Given the description of an element on the screen output the (x, y) to click on. 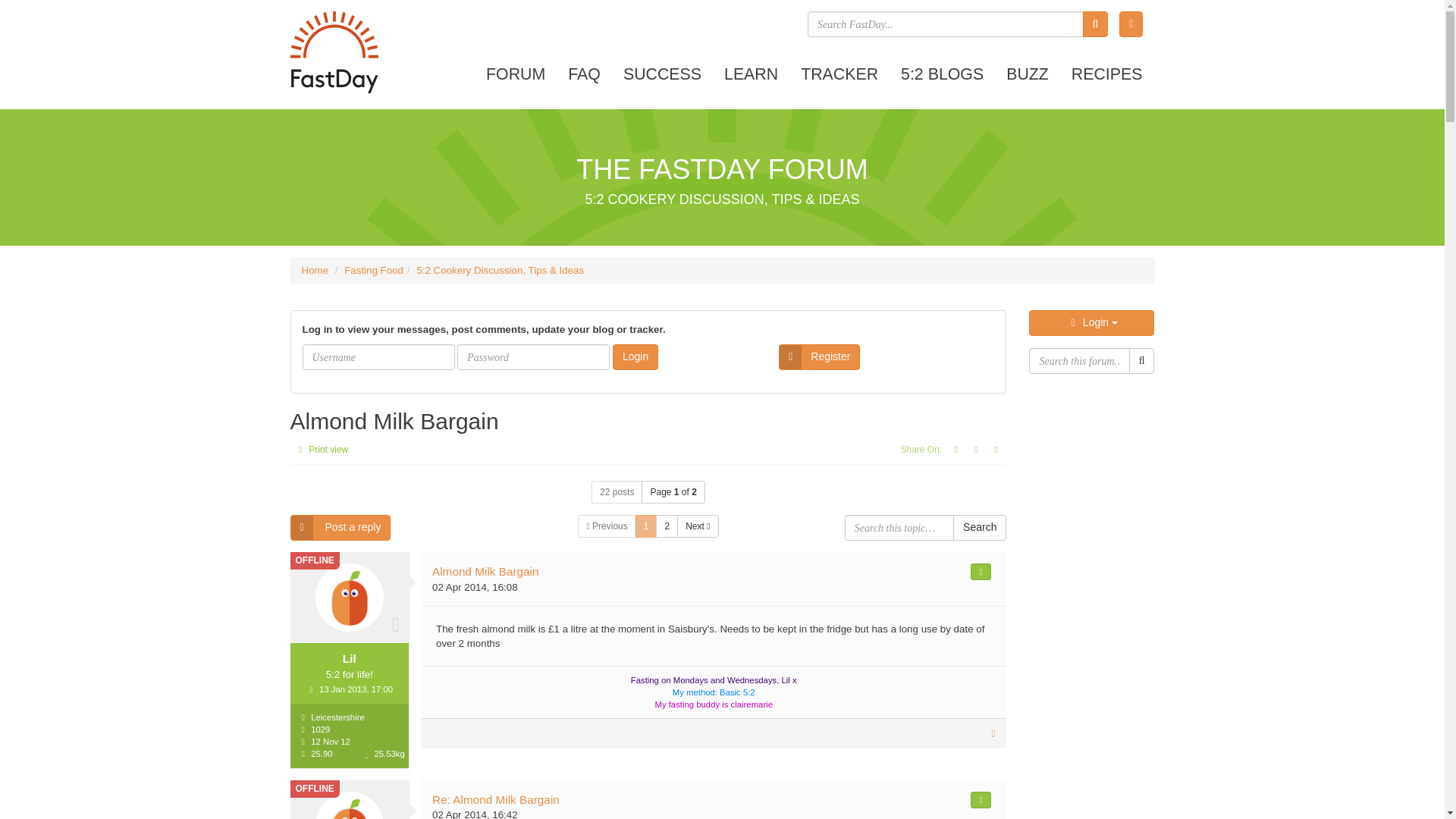
Login (635, 356)
Fasting Food (373, 270)
Share On: (921, 449)
5:2 BLOGS (941, 74)
TRACKER (839, 74)
Login (1091, 322)
SUCCESS (662, 74)
Almond Milk Bargain (393, 421)
RECIPES (1106, 74)
Home (315, 270)
LEARN (751, 74)
Register (819, 356)
FAQ (583, 74)
BUZZ (1026, 74)
Login (635, 356)
